Given the description of an element on the screen output the (x, y) to click on. 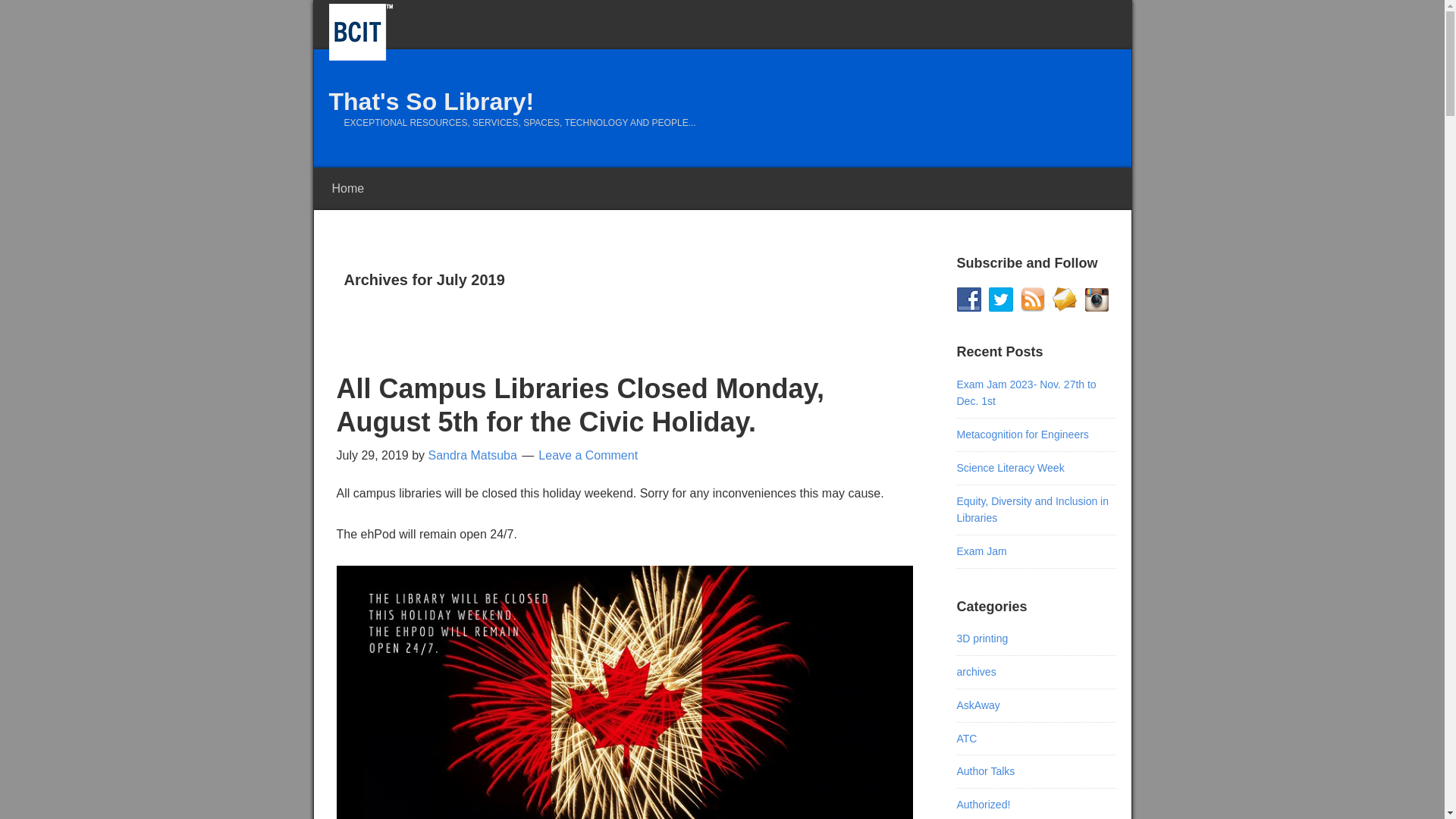
Follow Us on E-mail Element type: hover (1064, 299)
archives Element type: text (976, 671)
ATC Element type: text (967, 738)
Exam Jam 2023- Nov. 27th to Dec. 1st Element type: text (1026, 392)
Authorized! Element type: text (983, 804)
Author Talks Element type: text (986, 771)
Metacognition for Engineers Element type: text (1022, 434)
Follow Us on Facebook Element type: hover (969, 299)
Follow Us on Instagram Element type: hover (1096, 299)
Follow Us on Twitter Element type: hover (1000, 299)
That's So Library! Element type: text (431, 101)
Exam Jam Element type: text (982, 551)
Follow Us on RSS Element type: hover (1032, 299)
Leave a Comment Element type: text (587, 454)
Home Element type: text (347, 188)
Sandra Matsuba Element type: text (471, 454)
3D printing Element type: text (982, 638)
Science Literacy Week Element type: text (1010, 467)
AskAway Element type: text (978, 705)
Equity, Diversity and Inclusion in Libraries Element type: text (1033, 509)
BCIT Element type: text (360, 31)
